Given the description of an element on the screen output the (x, y) to click on. 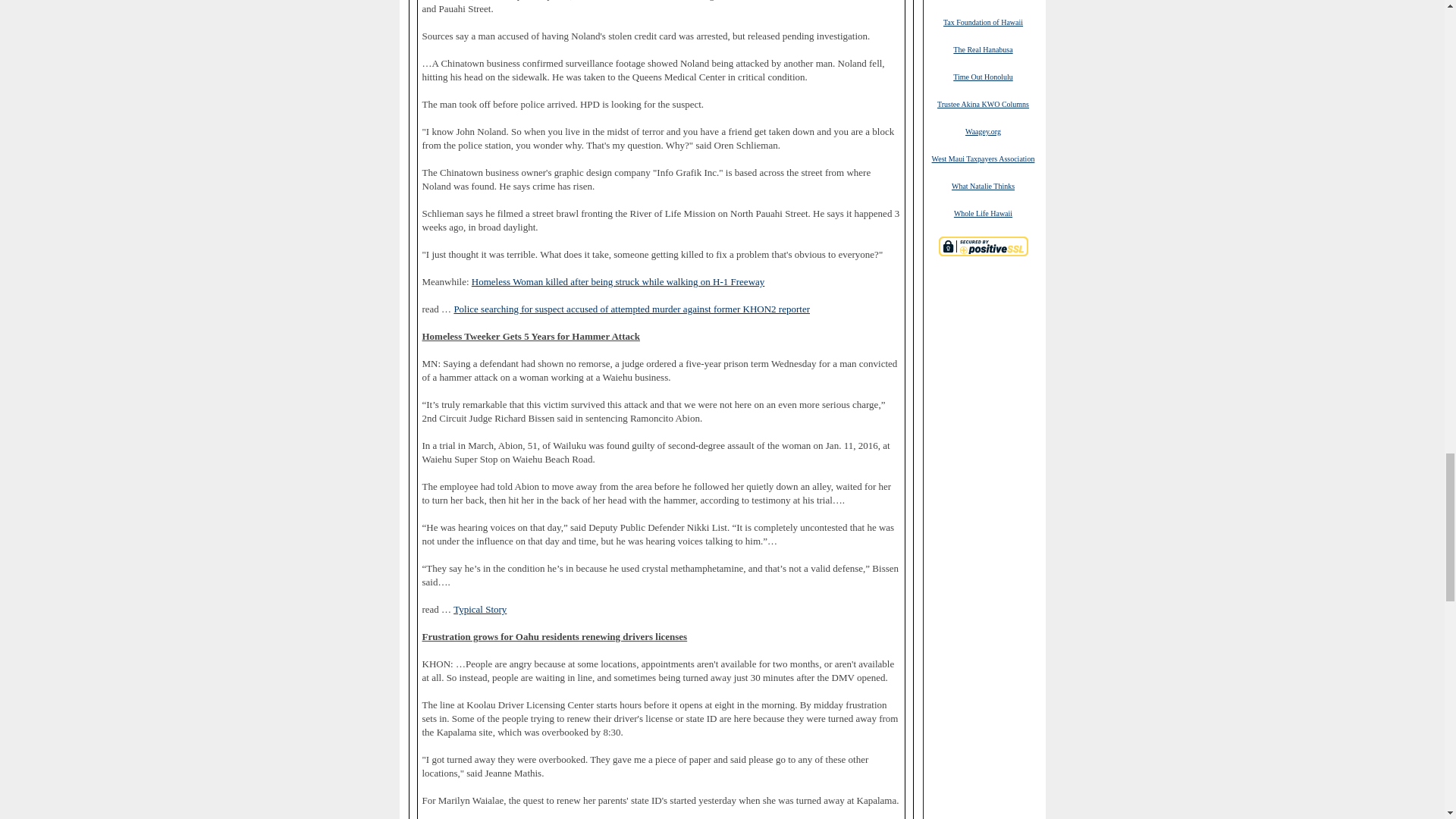
Typical Story (479, 609)
